Given the description of an element on the screen output the (x, y) to click on. 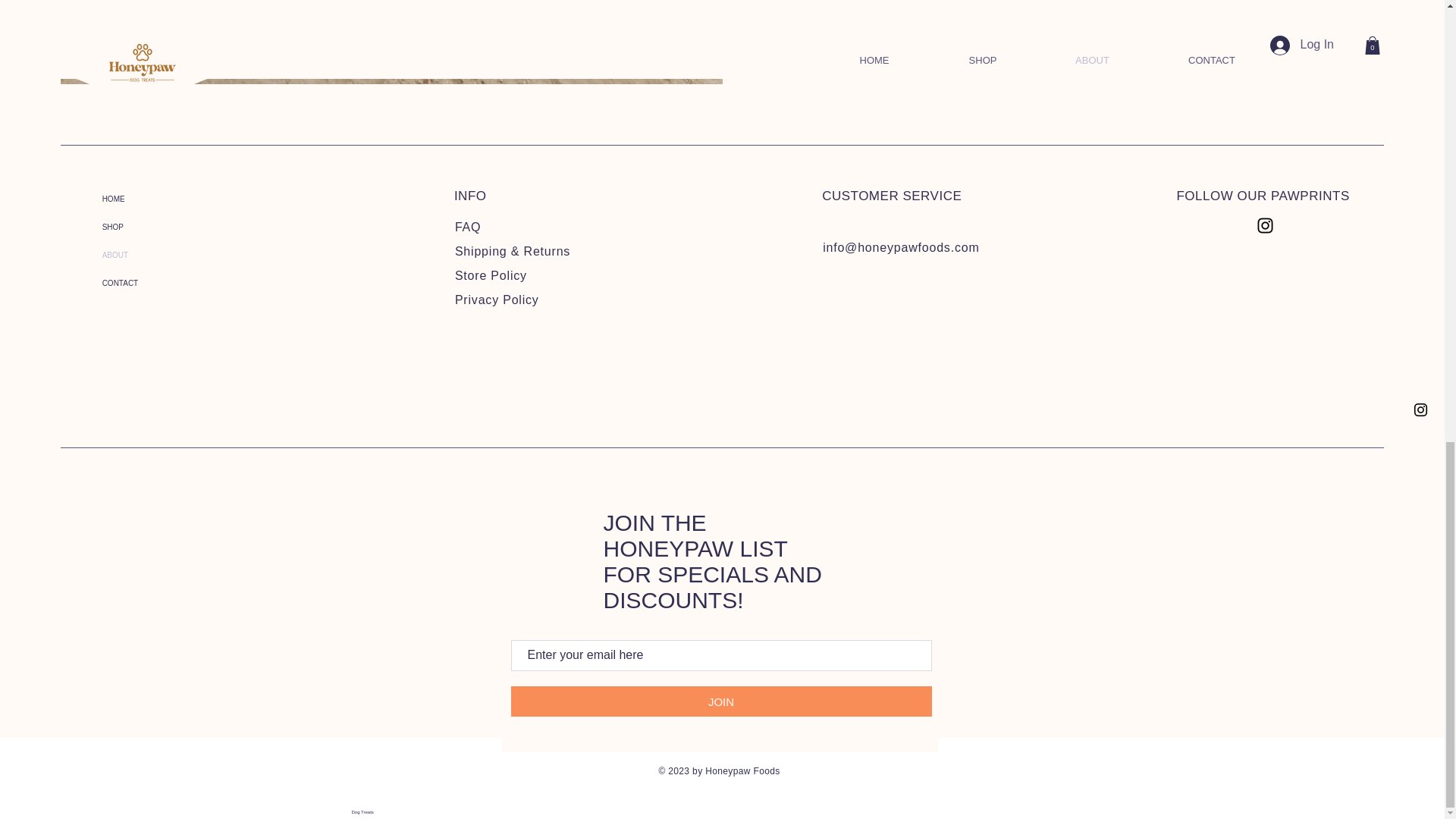
CONTACT (166, 283)
Store Policy (490, 275)
ABOUT (166, 254)
Privacy Policy (496, 299)
SHOP (166, 226)
HOME (166, 198)
JOIN (721, 701)
FAQ (467, 226)
